Given the description of an element on the screen output the (x, y) to click on. 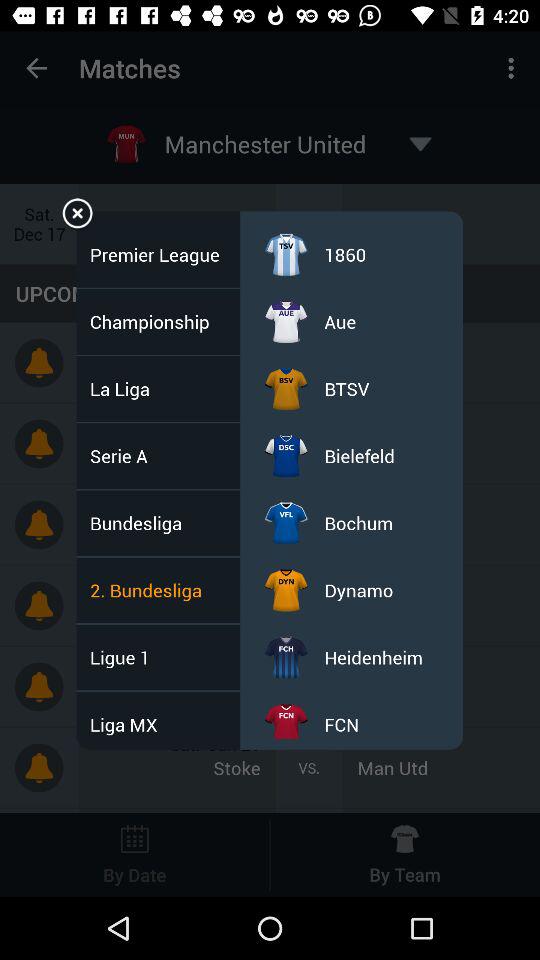
launch icon below the 1860 (340, 321)
